Given the description of an element on the screen output the (x, y) to click on. 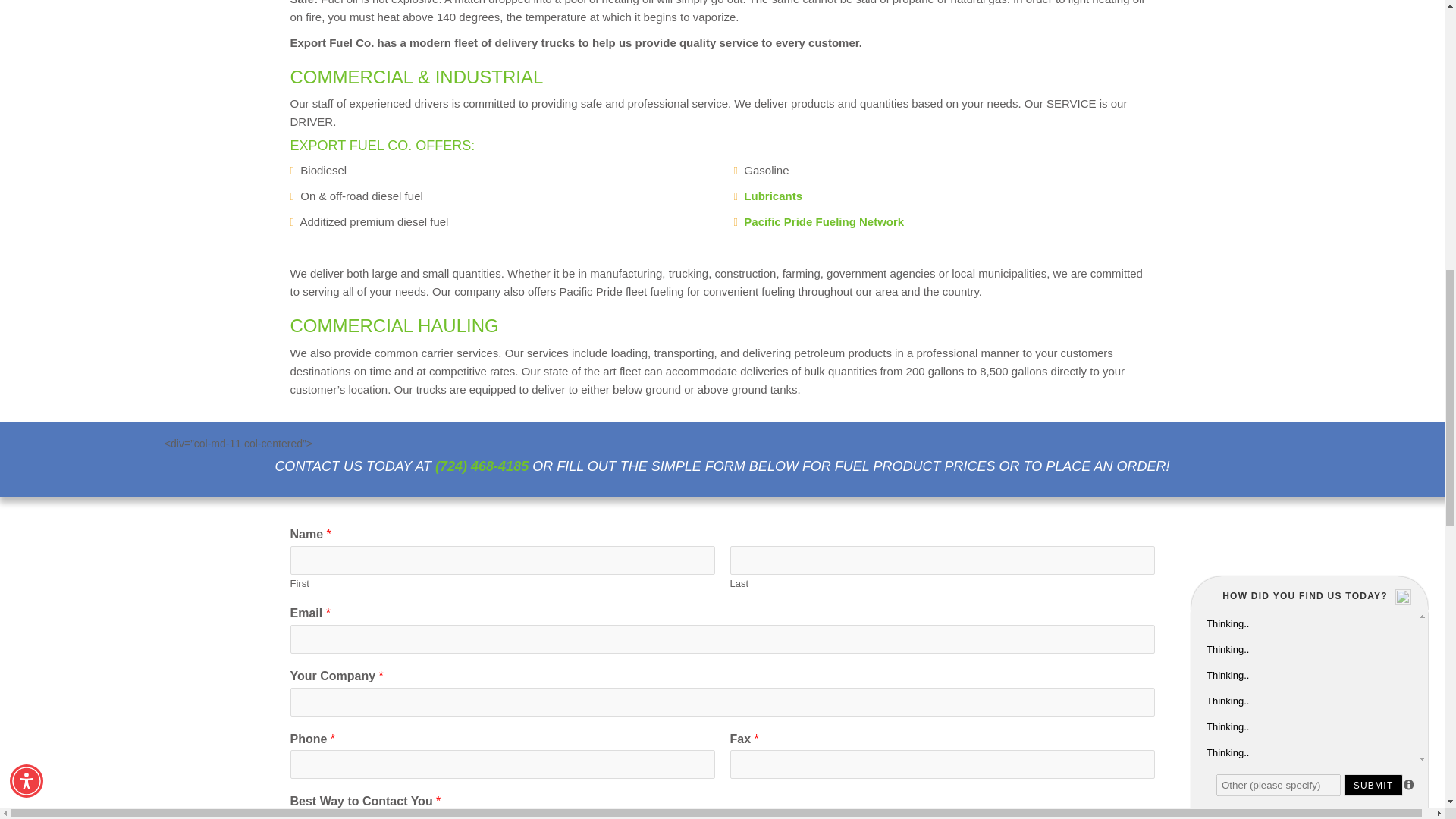
Pacific Pride Fueling Network (824, 221)
Email (308, 816)
Phone (740, 816)
Lubricants (773, 195)
